Given the description of an element on the screen output the (x, y) to click on. 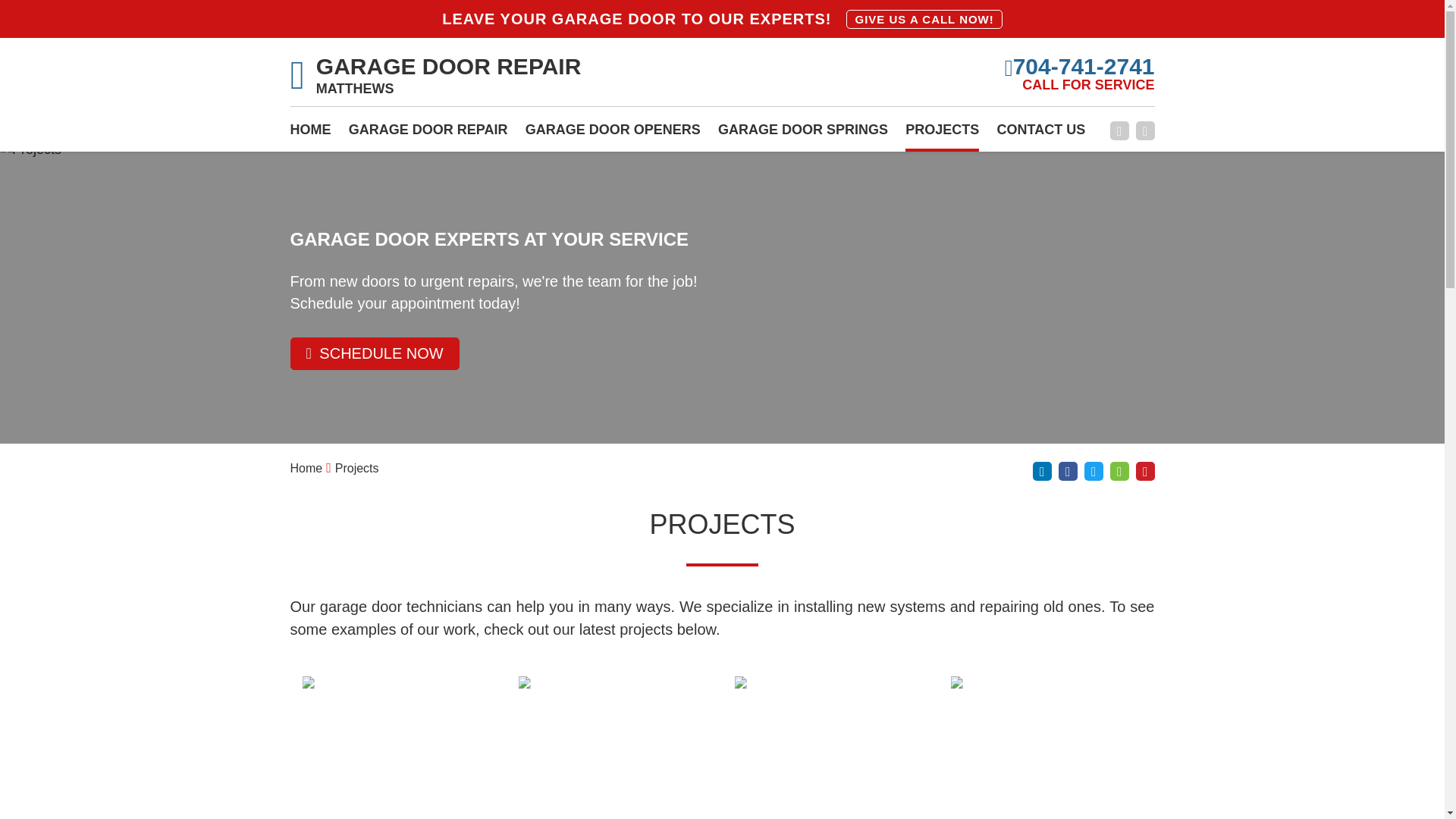
Houzz (1119, 470)
GIVE US A CALL NOW! (923, 18)
SAME DAY PANEL REPLACEMENT NEAR MINT HILL (829, 747)
GARAGE DOOR OPENERS (612, 134)
Facebook (1119, 130)
URGENT OPENER REPAIR NEAR STALLINGS (1046, 747)
Twitter (1093, 470)
CONTACT US (1041, 134)
MATTHEWS GARAGE DOOR TROUBLESHOOTING SERVICE (397, 747)
Facebook (1067, 470)
